Given the description of an element on the screen output the (x, y) to click on. 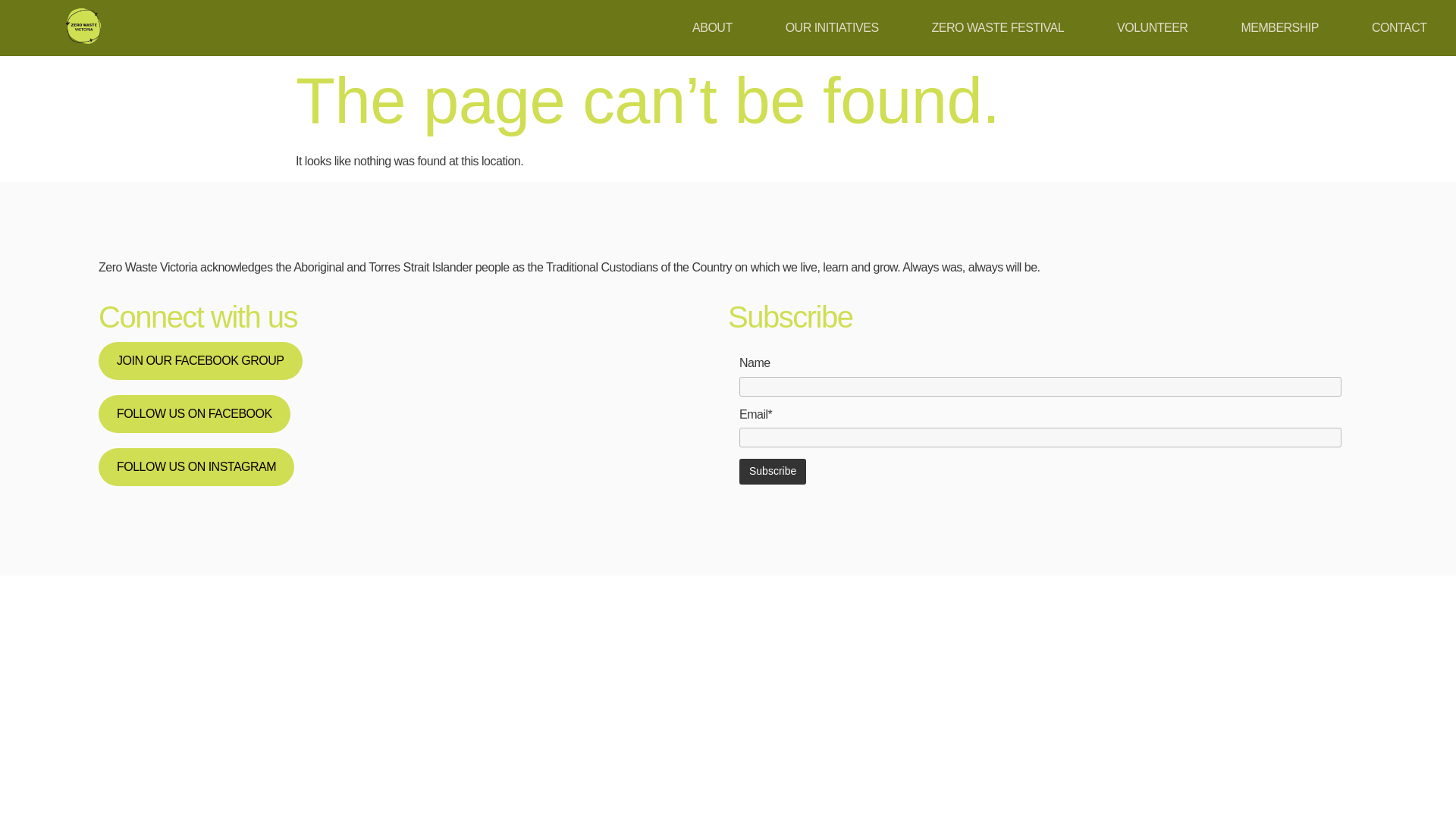
ABOUT (712, 27)
MEMBERSHIP (1279, 27)
CONTACT (1398, 27)
VOLUNTEER (1152, 27)
FOLLOW US ON FACEBOOK (194, 413)
FOLLOW US ON INSTAGRAM (196, 466)
Subscribe (772, 471)
ZERO WASTE FESTIVAL (997, 27)
OUR INITIATIVES (832, 27)
JOIN OUR FACEBOOK GROUP (200, 361)
